Given the description of an element on the screen output the (x, y) to click on. 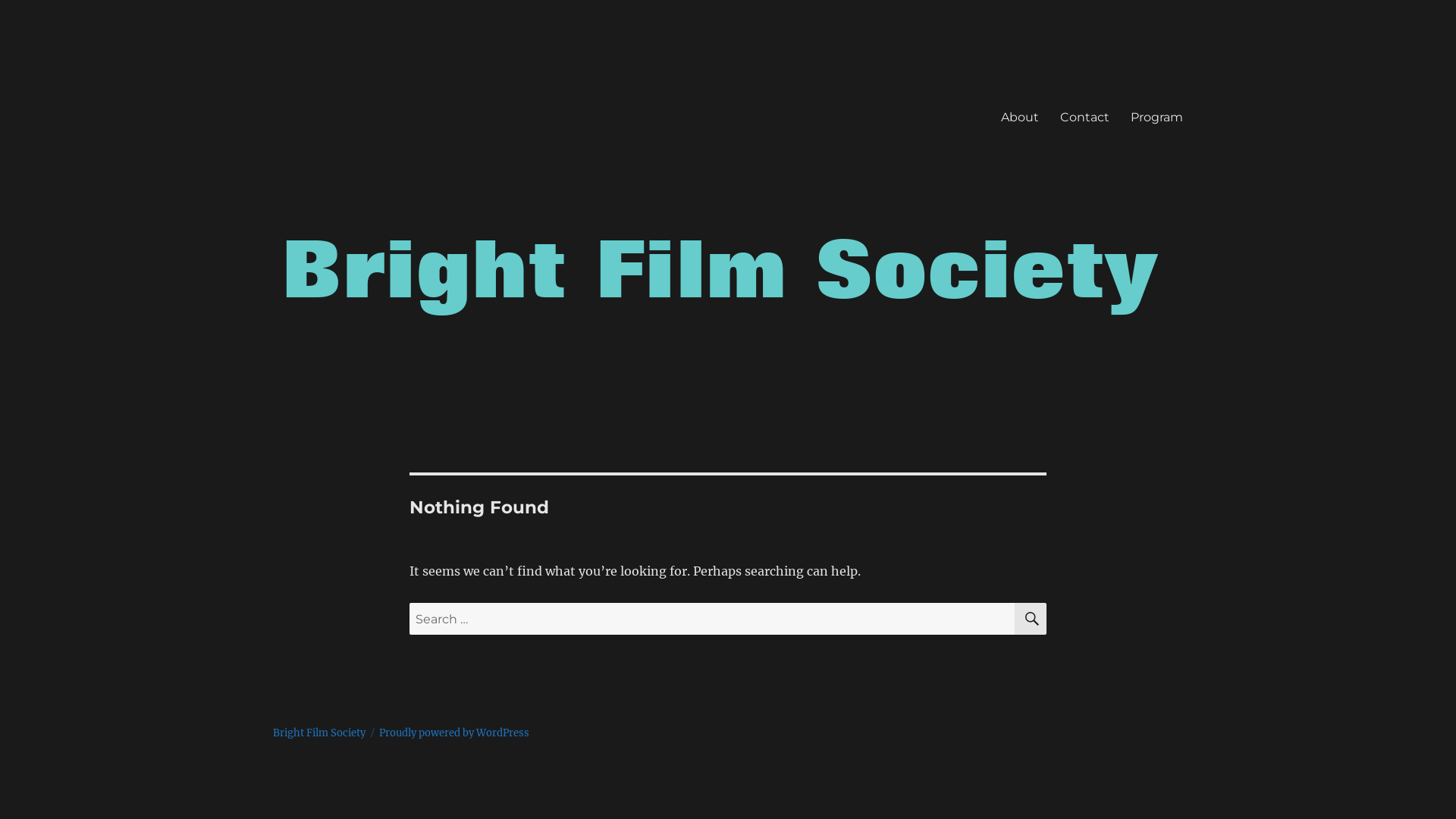
Program Element type: text (1156, 116)
Bright Film Society Element type: text (319, 732)
SEARCH Element type: text (1030, 618)
About Element type: text (1019, 116)
Proudly powered by WordPress Element type: text (454, 732)
Bright Film Society Element type: text (378, 92)
Contact Element type: text (1084, 116)
